Given the description of an element on the screen output the (x, y) to click on. 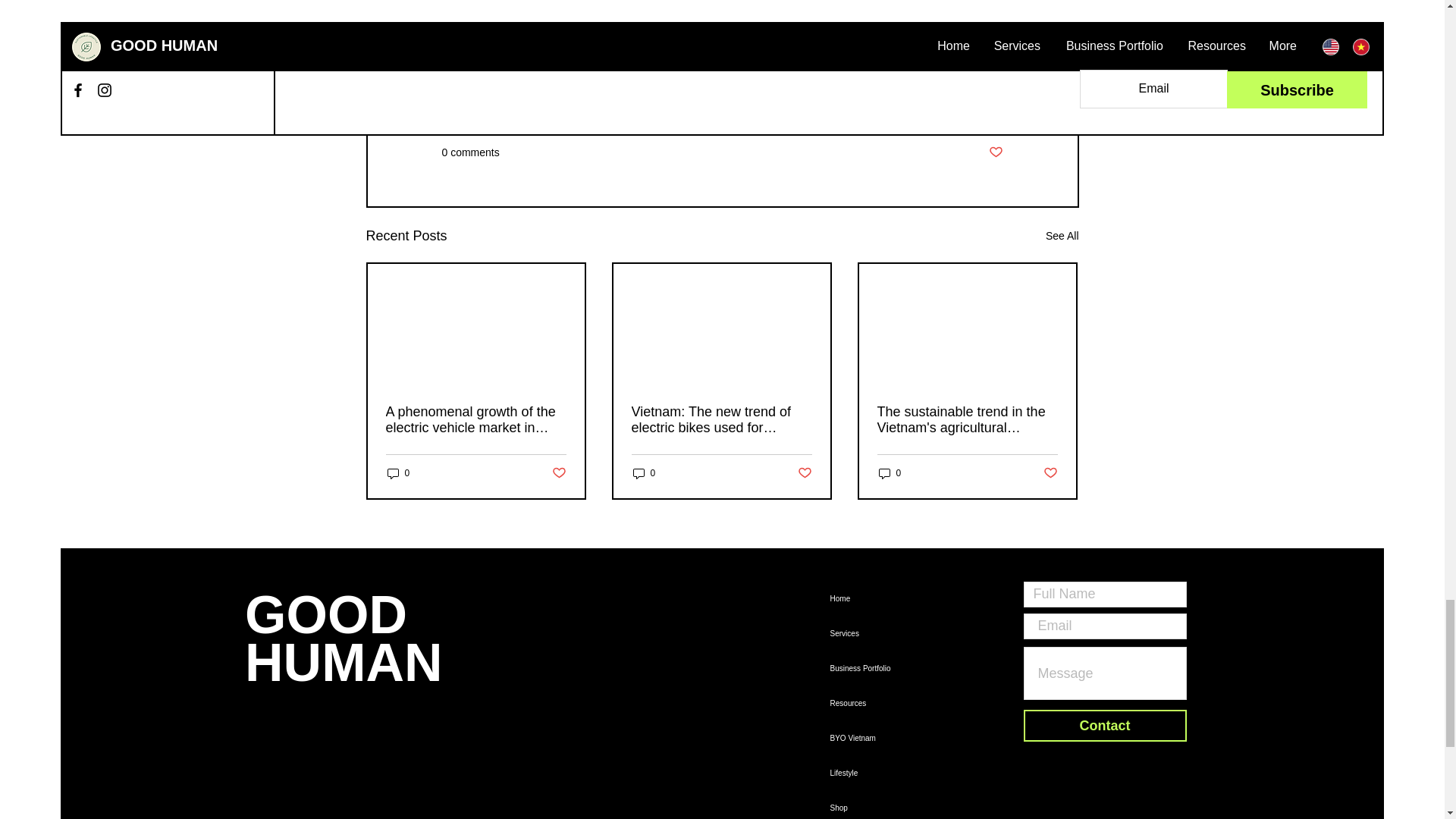
CO2 tracker (1104, 804)
0 (397, 473)
Resources (977, 107)
See All (1061, 236)
Post not marked as liked (995, 152)
Post not marked as liked (558, 473)
